Given the description of an element on the screen output the (x, y) to click on. 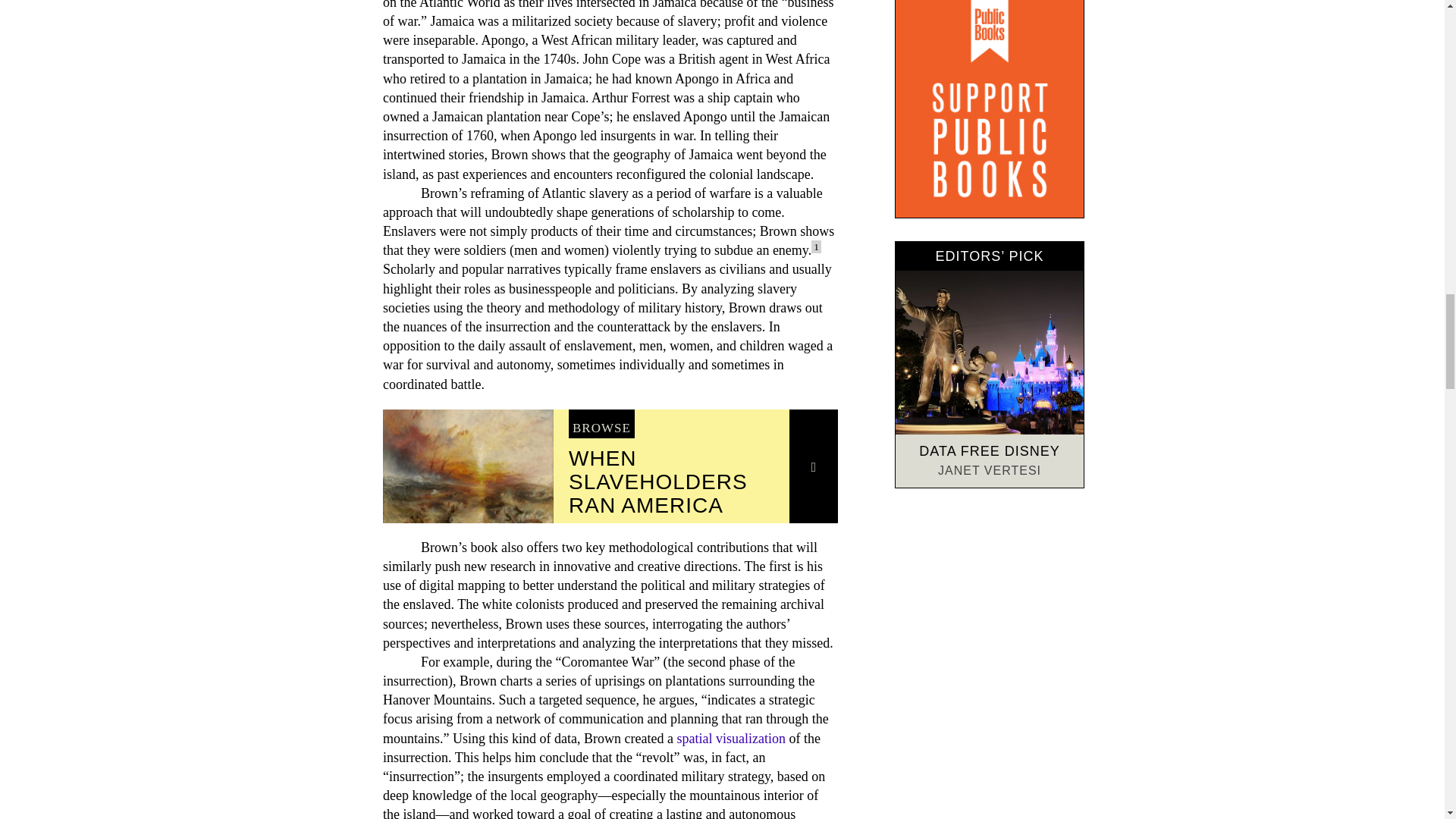
Data Free Disney (989, 352)
Data Free Disney (988, 450)
